Given the description of an element on the screen output the (x, y) to click on. 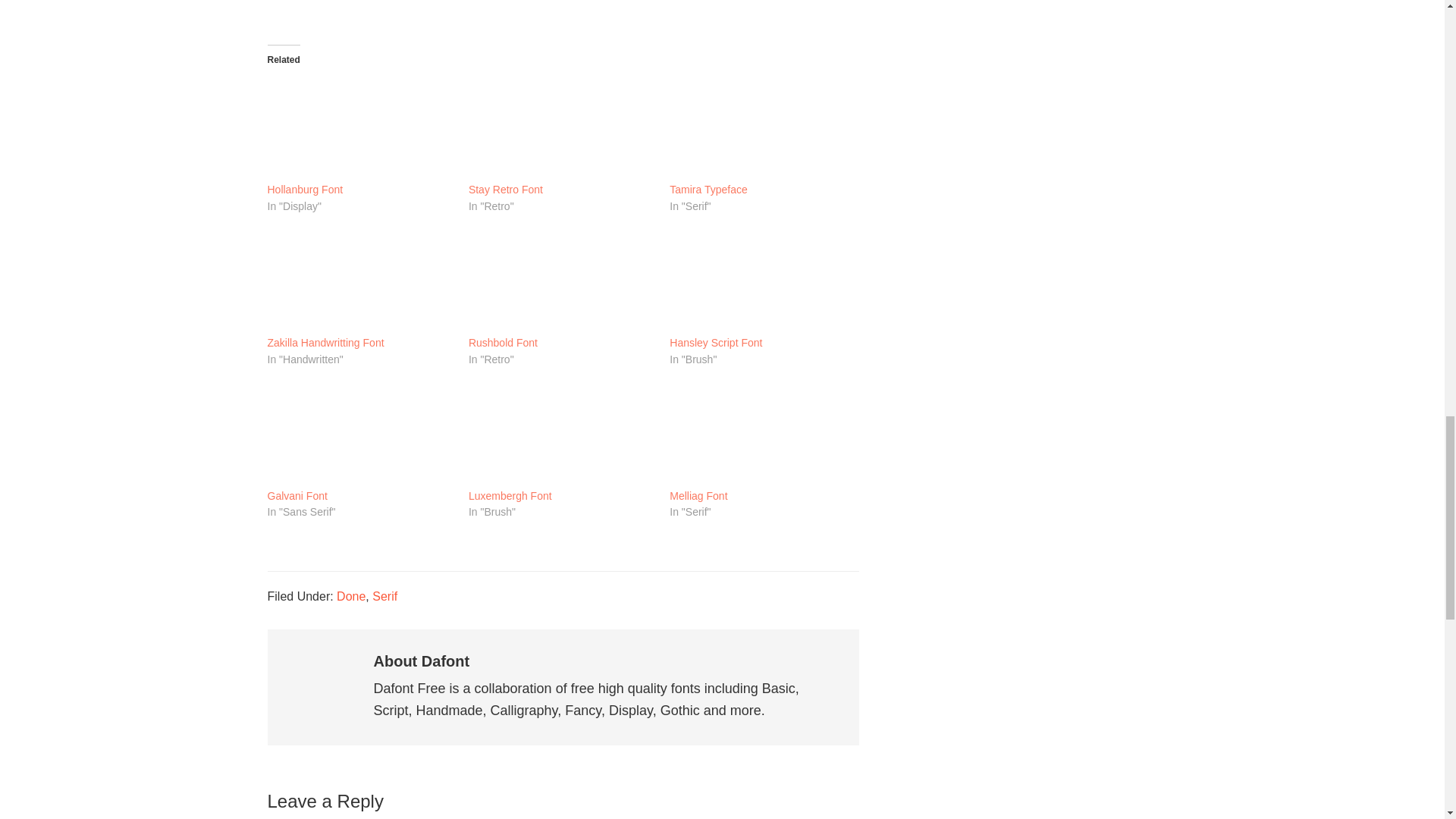
Galvani Font (296, 496)
Luxembergh Font (560, 433)
Stay Retro Font (560, 127)
Luxembergh Font (509, 496)
Melliag Font (697, 496)
Done (350, 595)
Hollanburg Font (359, 127)
Tamira Typeface (762, 127)
Serif (384, 595)
Melliag Font (762, 433)
Stay Retro Font (505, 190)
Rushbold Font (502, 343)
Tamira Typeface (707, 190)
Hansley Script Font (762, 280)
Galvani Font (359, 433)
